Given the description of an element on the screen output the (x, y) to click on. 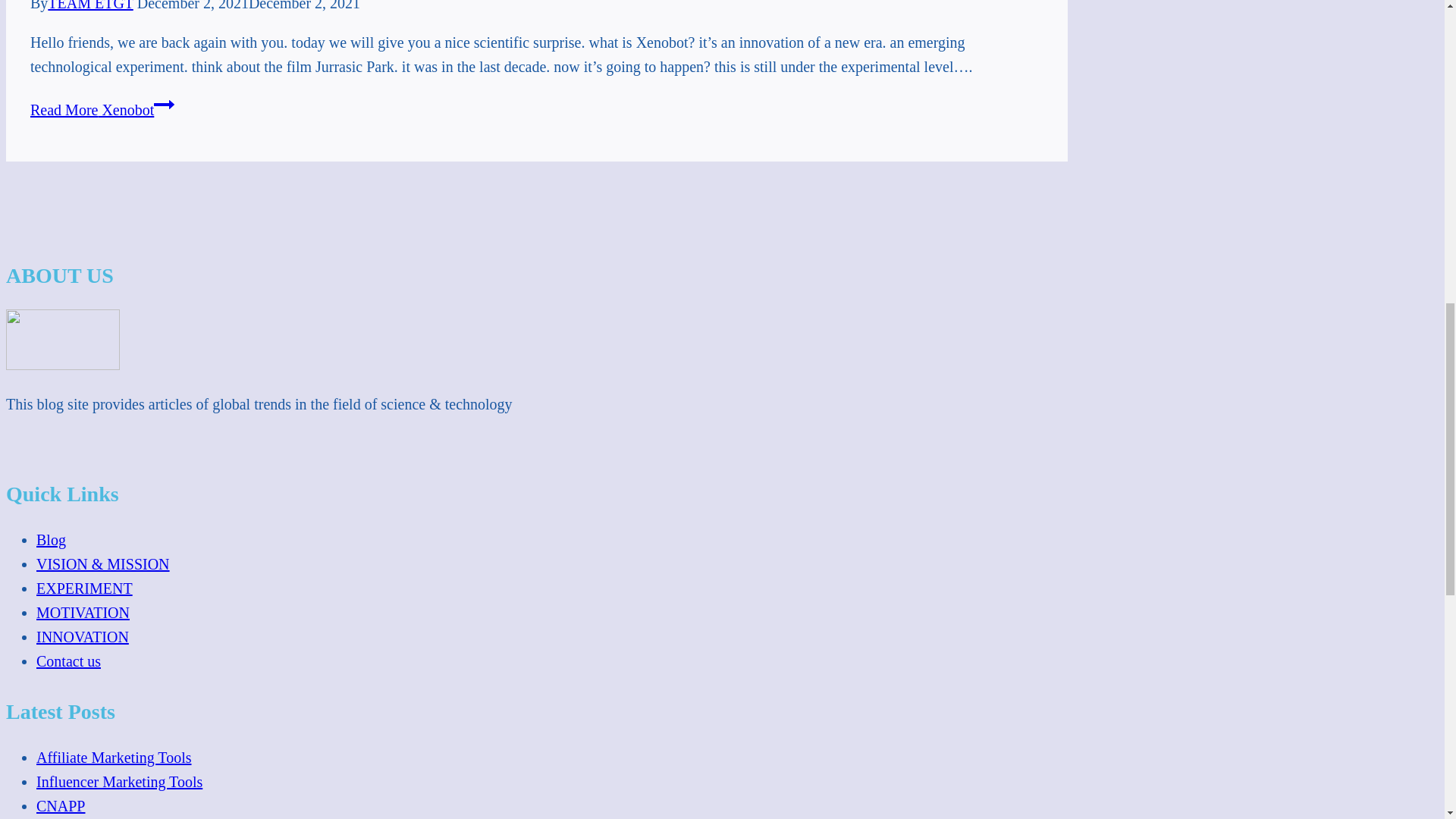
Read More XenobotContinue (102, 109)
INNOVATION (82, 636)
MOTIVATION (82, 612)
Influencer Marketing Tools (119, 781)
Contact us (68, 660)
Continue (164, 104)
EXPERIMENT (84, 588)
TEAM ETGT (90, 5)
Blog (50, 539)
CNAPP (60, 805)
Affiliate Marketing Tools (114, 757)
